Given the description of an element on the screen output the (x, y) to click on. 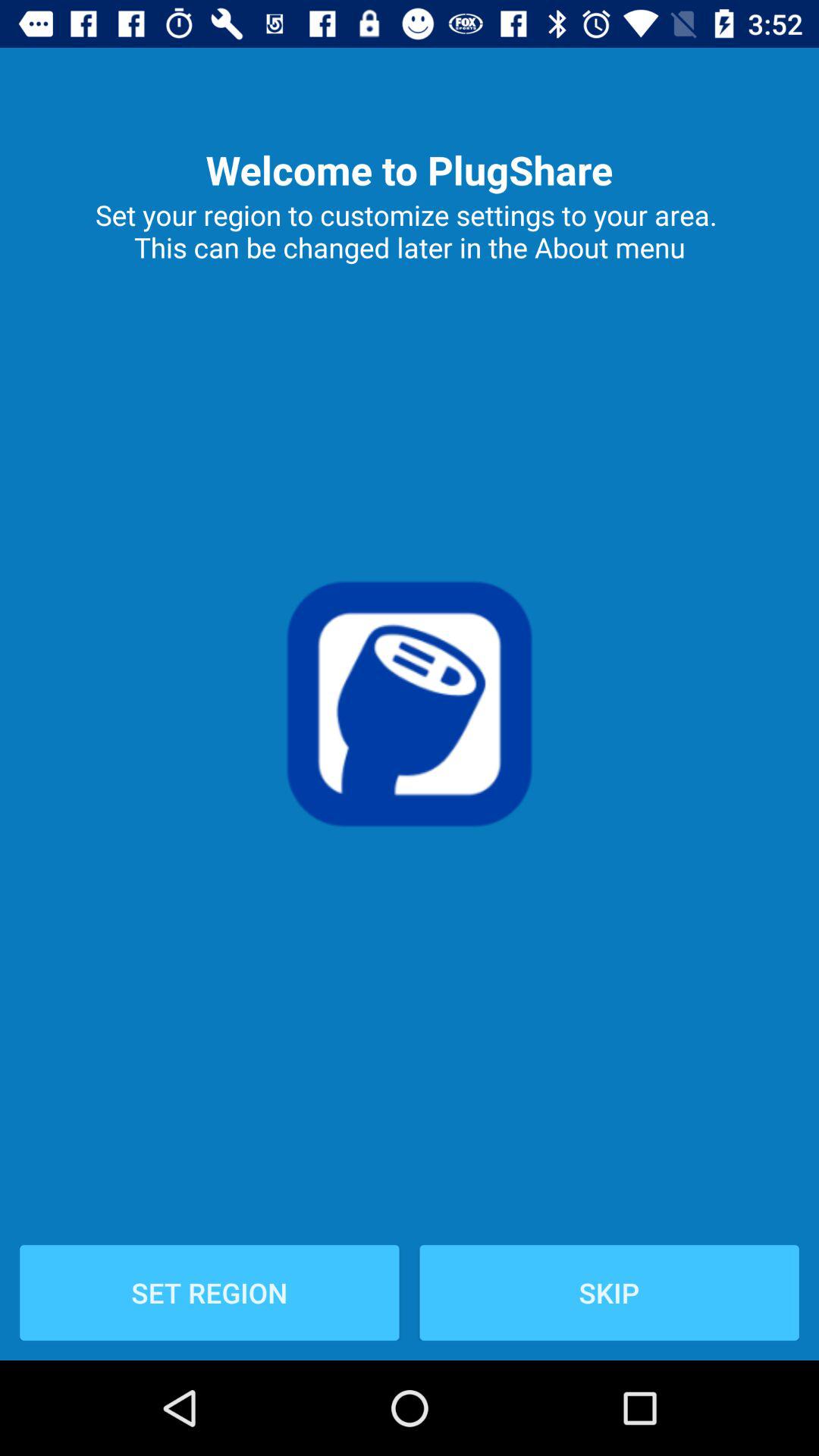
press icon at the bottom right corner (609, 1292)
